Given the description of an element on the screen output the (x, y) to click on. 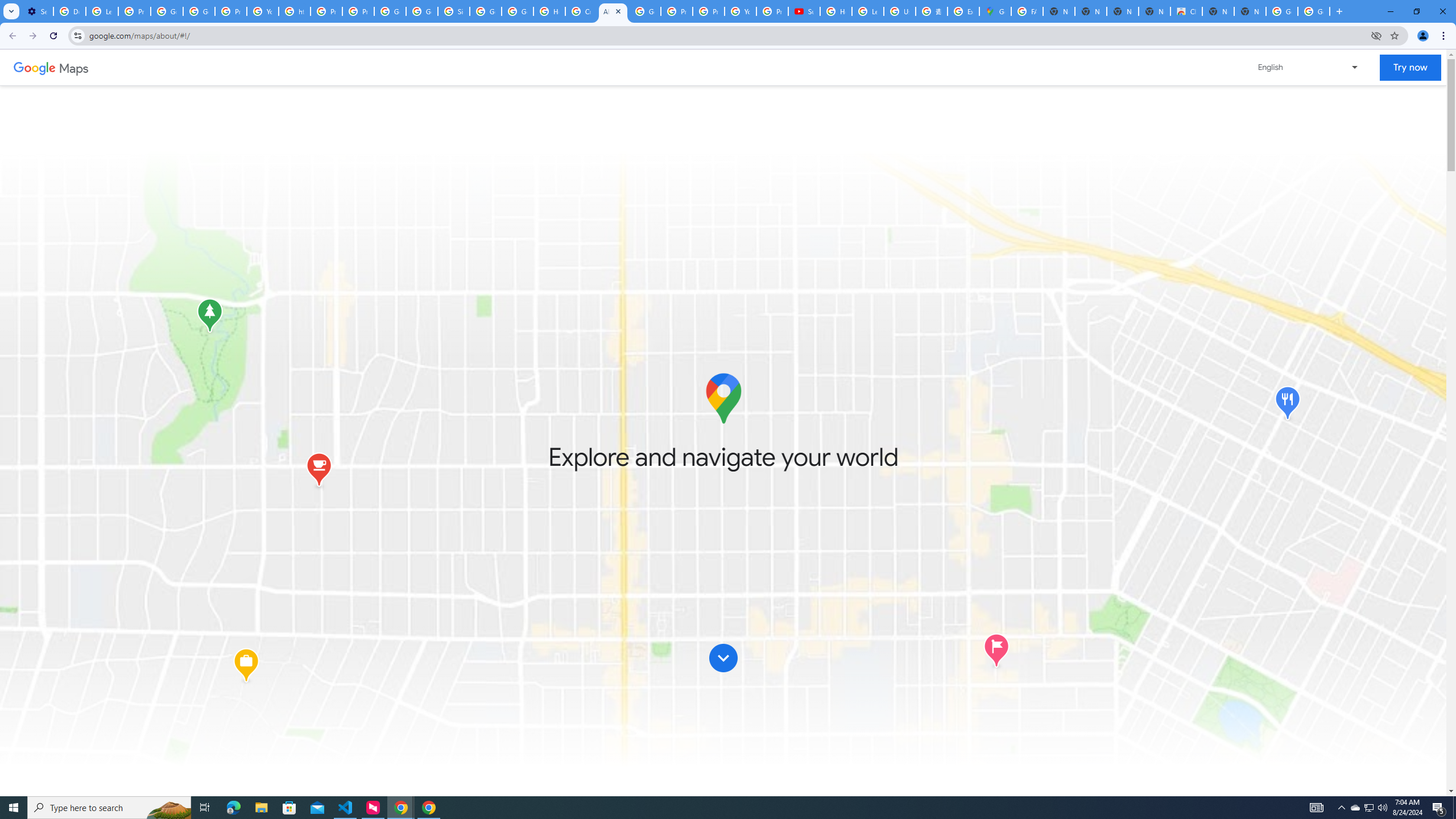
Create your Google Account (581, 11)
Try now (1409, 67)
Change language or region (1308, 66)
Privacy Help Center - Policies Help (676, 11)
Skip to Content (723, 660)
Google Maps (995, 11)
